Given the description of an element on the screen output the (x, y) to click on. 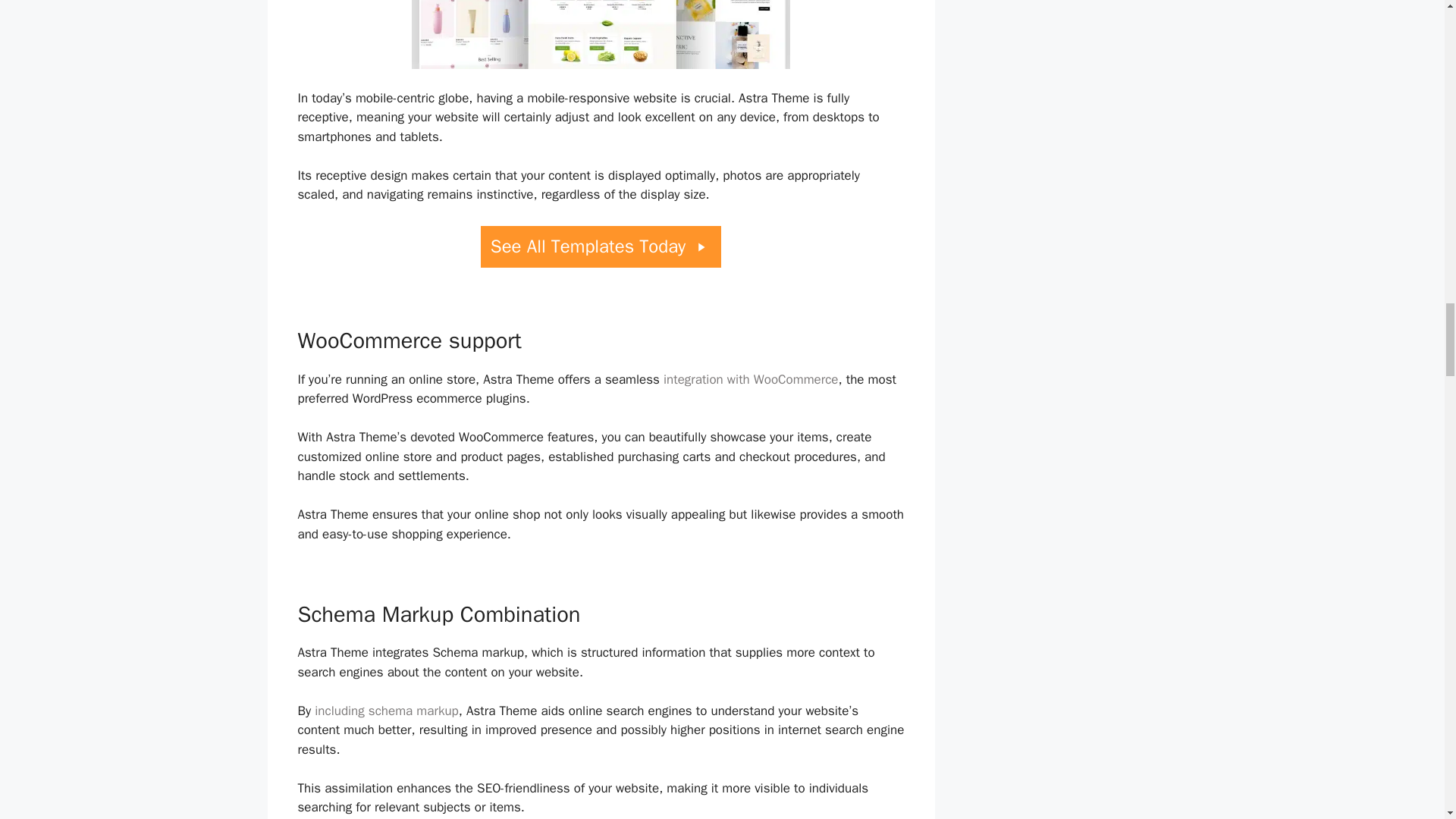
See All Templates Today (600, 246)
including schema markup (386, 710)
integration with WooCommerce (750, 379)
